Given the description of an element on the screen output the (x, y) to click on. 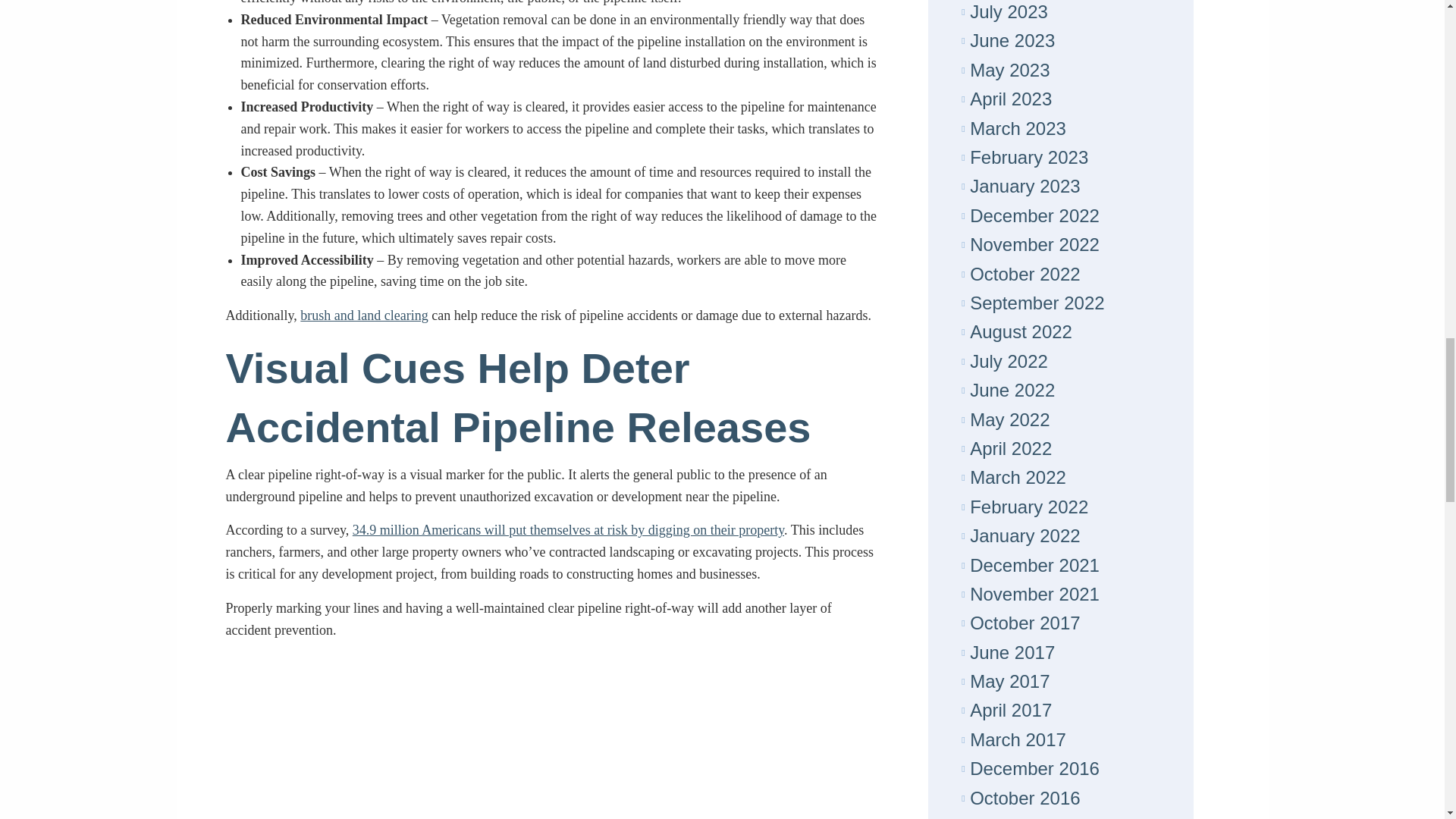
brush and land clearing (363, 314)
